Given the description of an element on the screen output the (x, y) to click on. 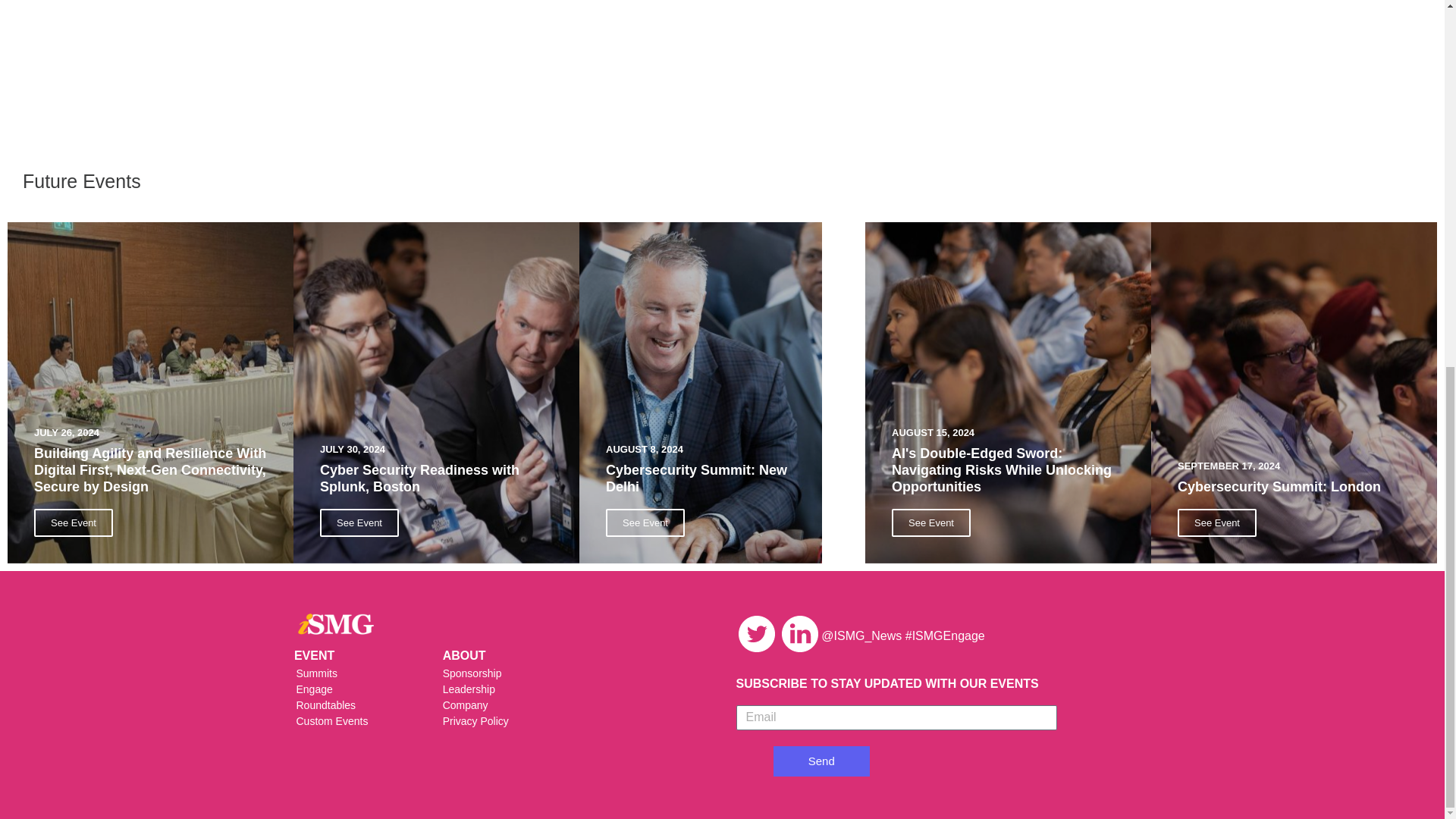
Summits (353, 673)
See Event (931, 522)
Leadership (568, 689)
Engage (353, 689)
Roundtables (353, 705)
See Event (1216, 522)
Sponsorship (568, 673)
Privacy Policy (568, 721)
See Event (644, 522)
See Event (359, 522)
Custom Events (353, 721)
Company (568, 705)
See Event (73, 522)
